Given the description of an element on the screen output the (x, y) to click on. 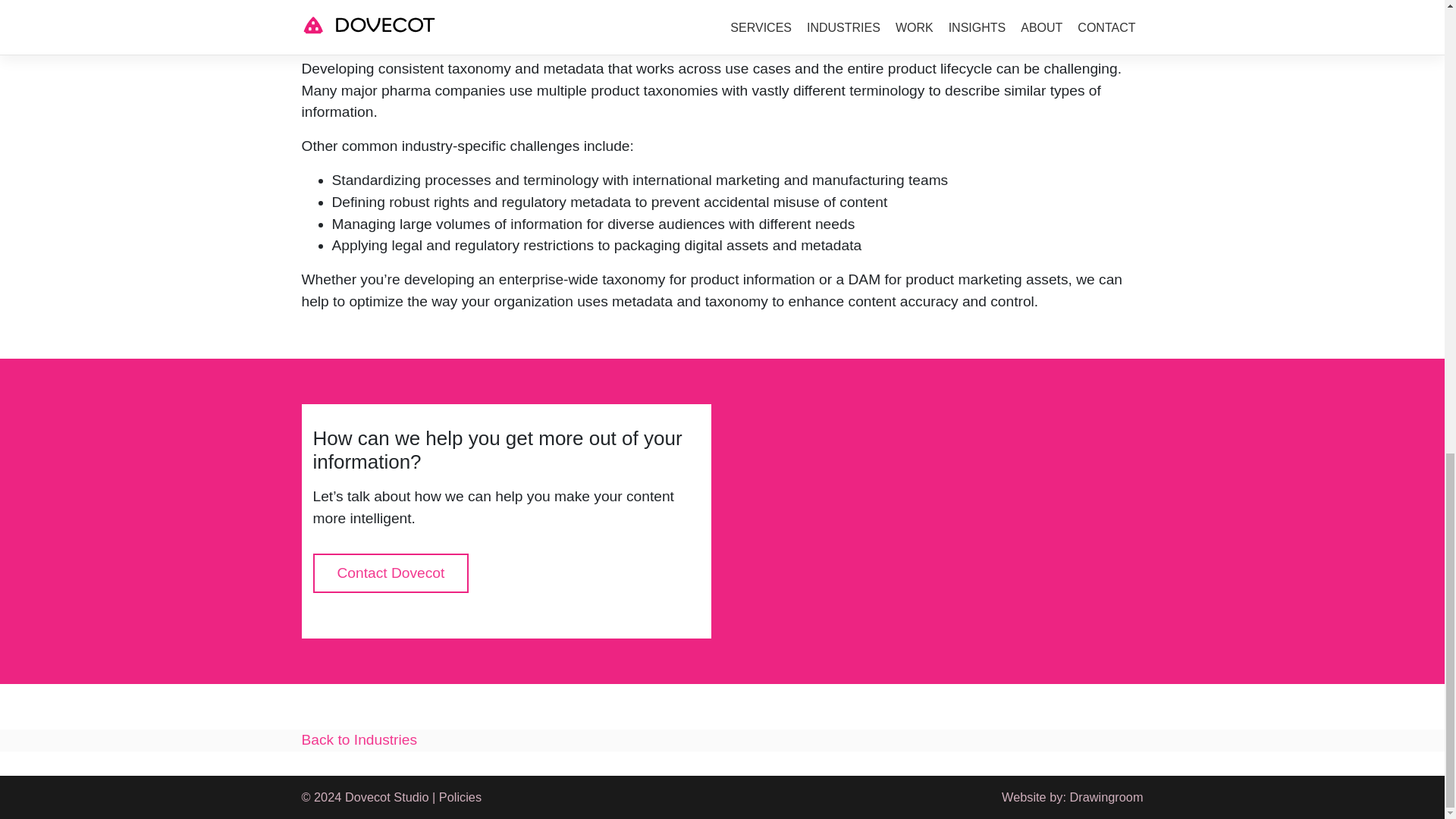
WordPress Technical Support (1071, 796)
Website by: Drawingroom (1071, 796)
Back to Industries (359, 739)
Dovecot Studio (387, 796)
Policies (460, 796)
Contact Dovecot (390, 572)
